Given the description of an element on the screen output the (x, y) to click on. 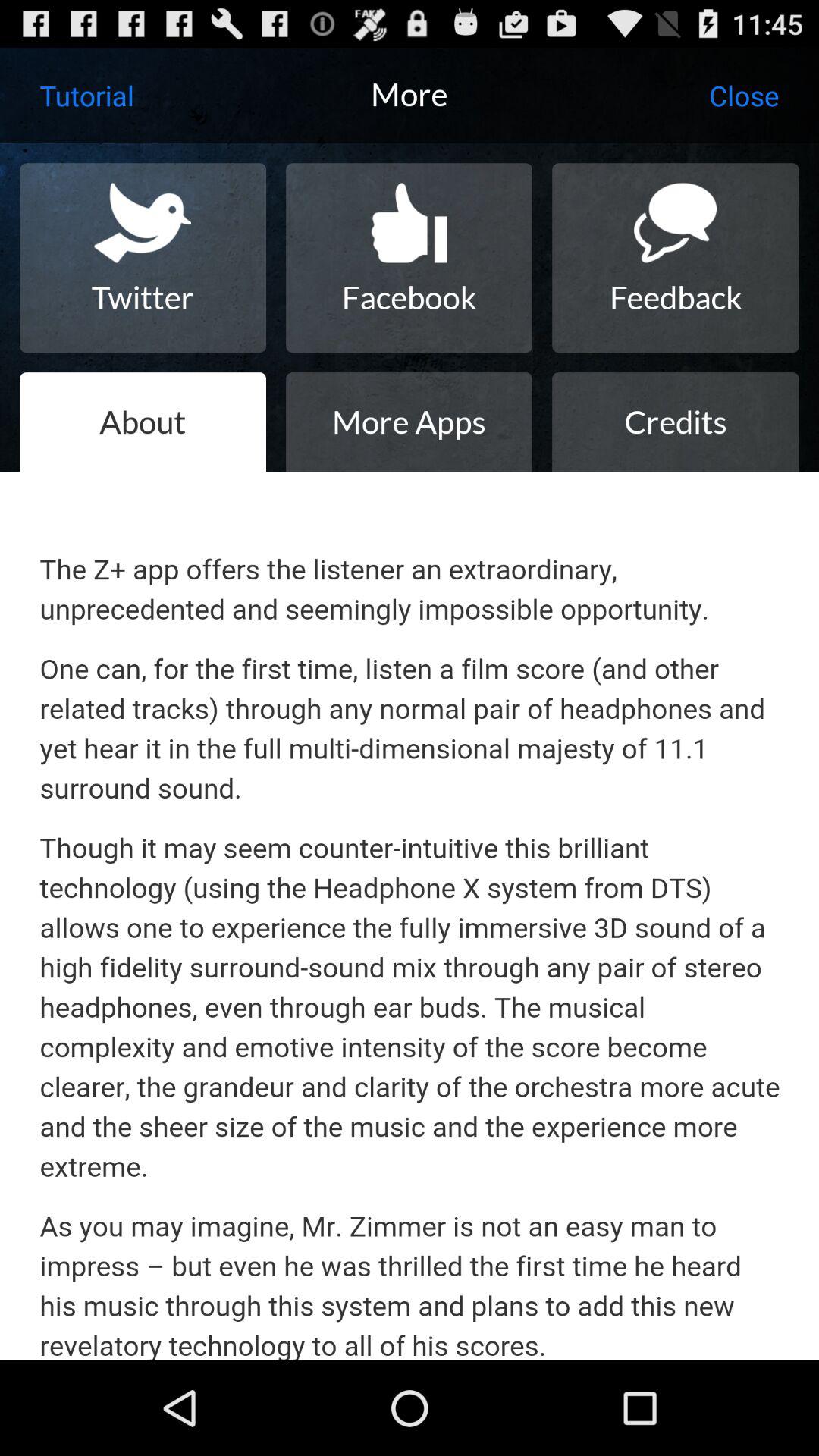
tap item next to credits icon (409, 422)
